Given the description of an element on the screen output the (x, y) to click on. 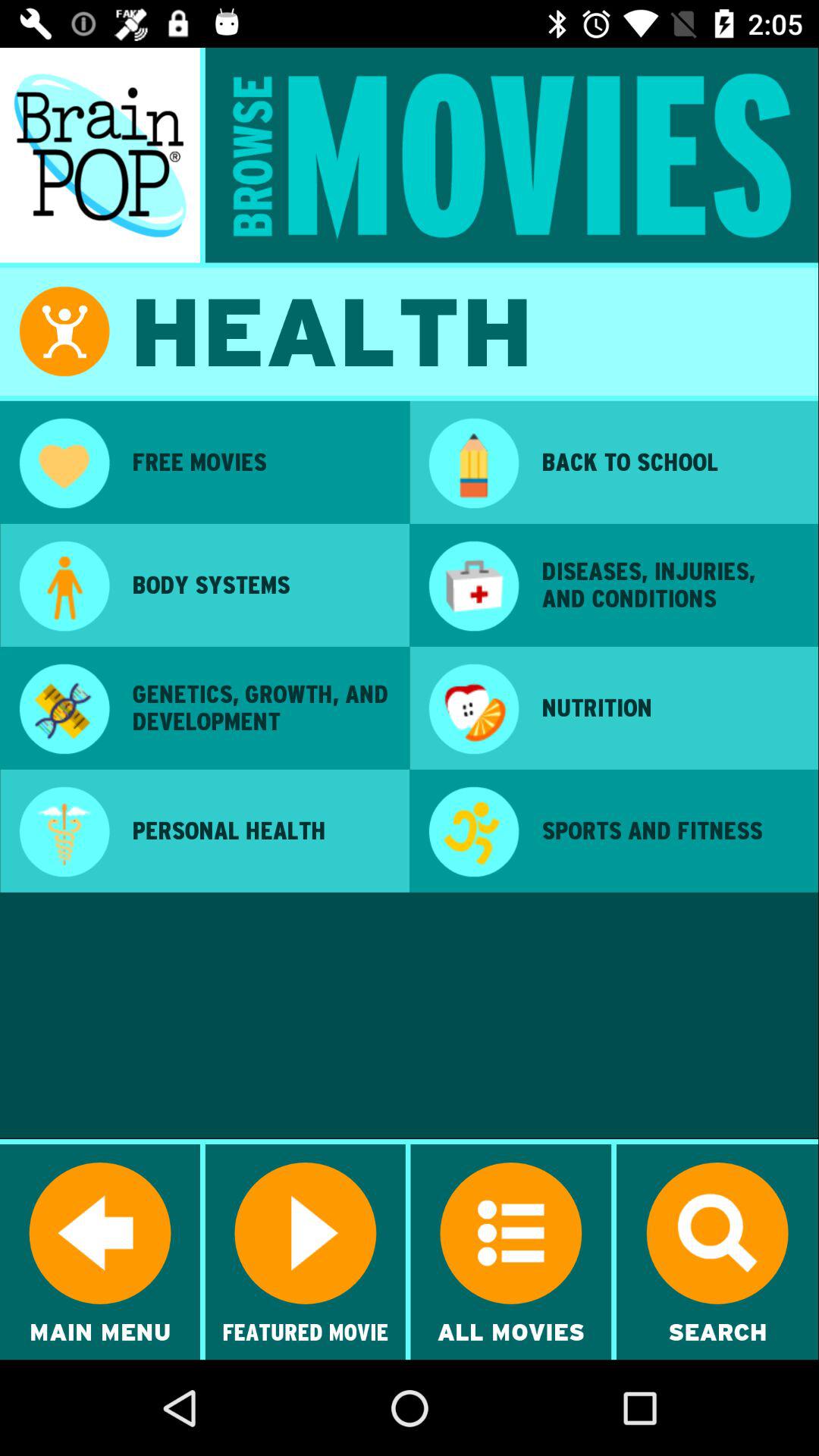
choose the icon next to body systems app (63, 587)
